Given the description of an element on the screen output the (x, y) to click on. 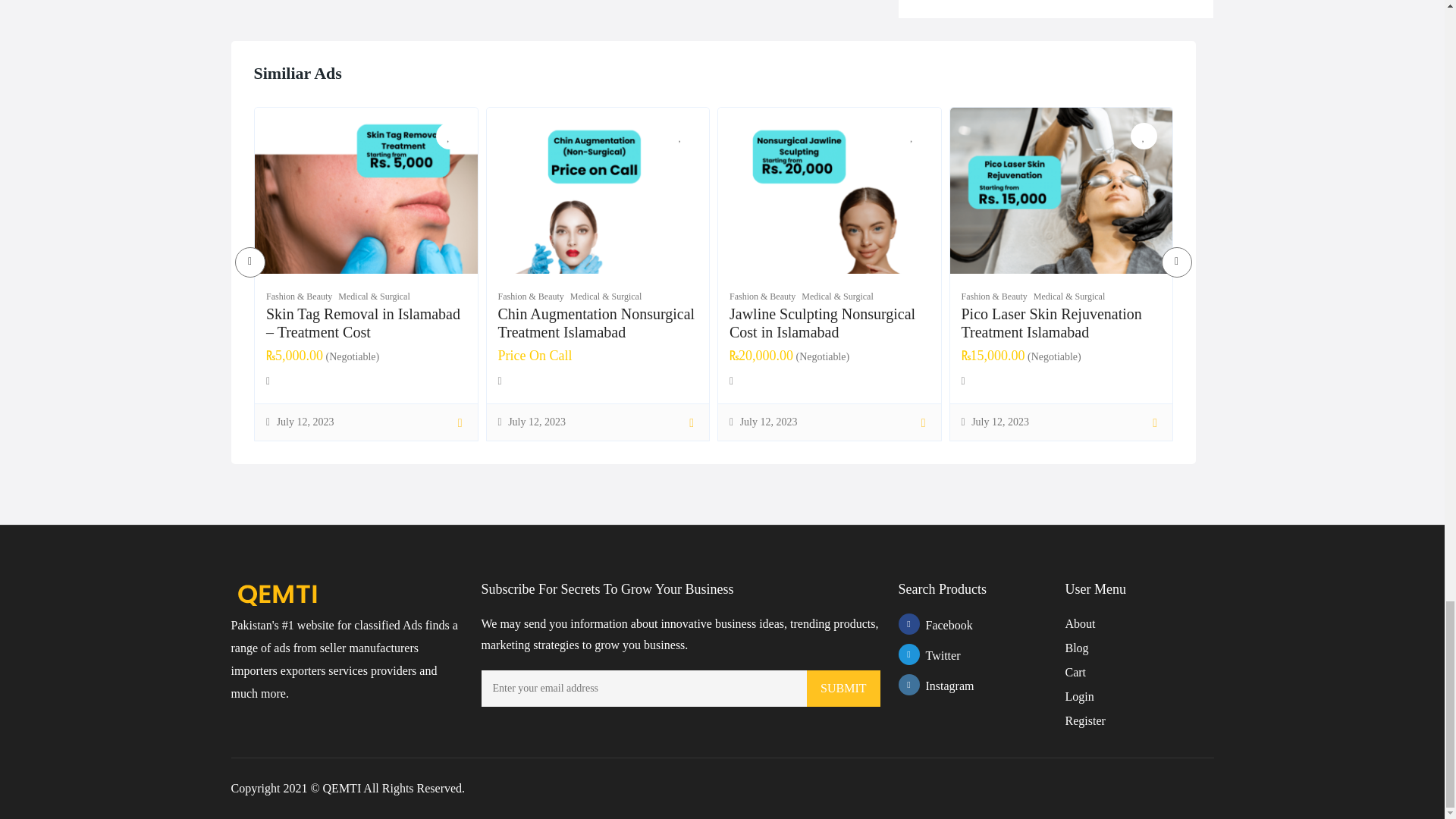
Submit (842, 688)
